Given the description of an element on the screen output the (x, y) to click on. 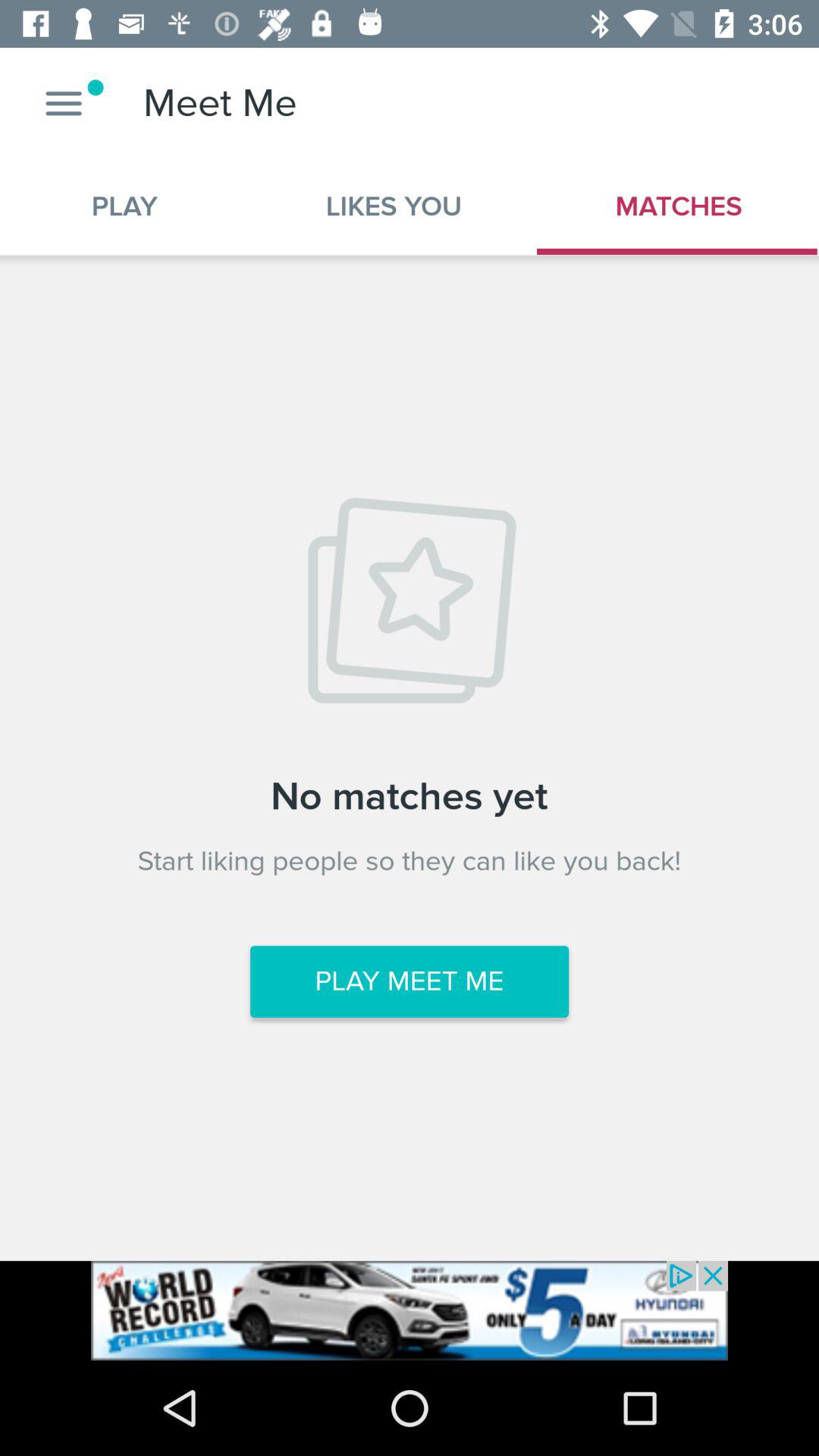
click on advertisement (409, 1310)
